Given the description of an element on the screen output the (x, y) to click on. 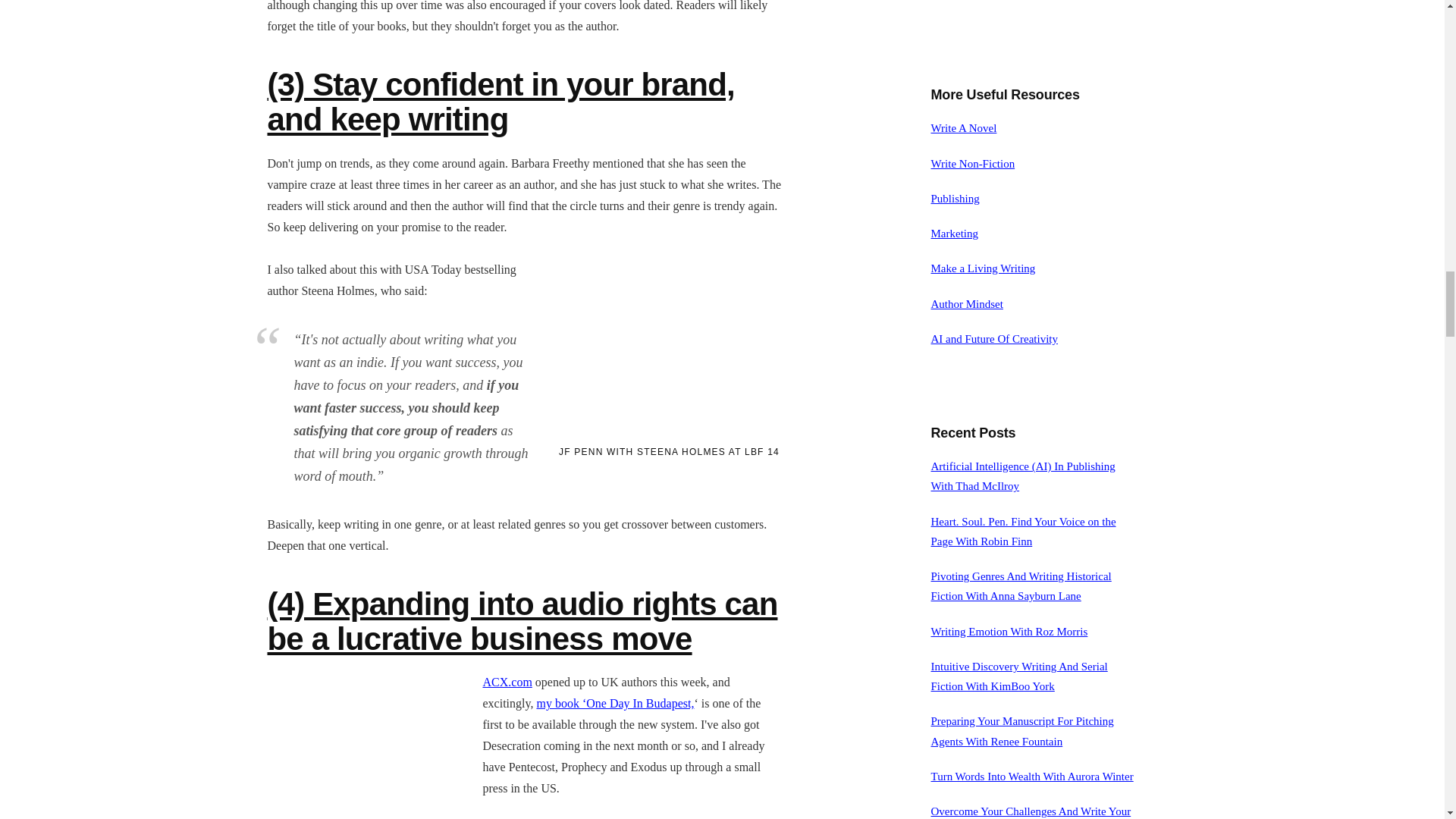
ACX.com (506, 681)
One Day In BUdapest audio (614, 703)
ACX.com (506, 681)
